Given the description of an element on the screen output the (x, y) to click on. 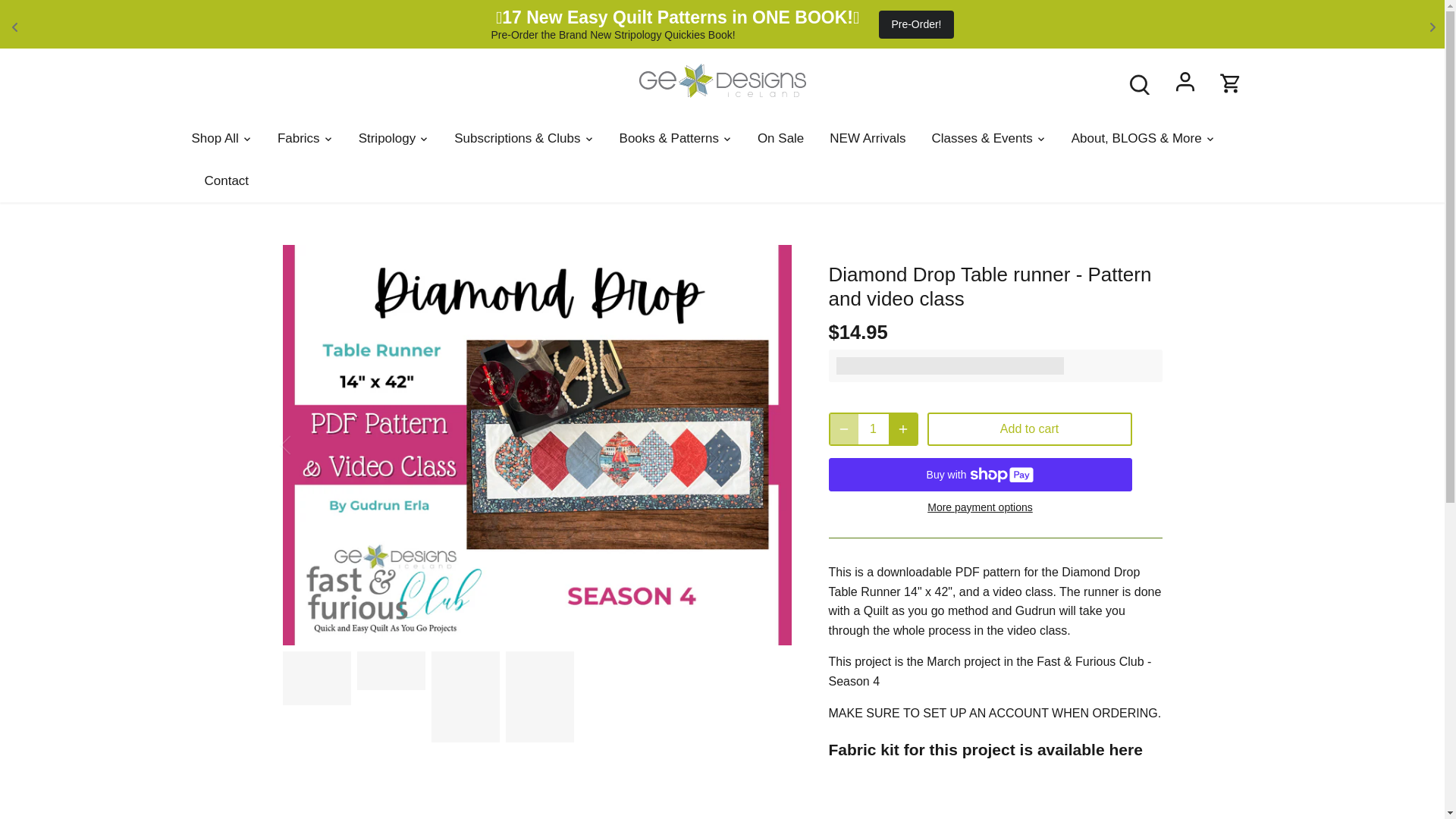
Go to cart (1230, 82)
Account Login (1184, 84)
1 (873, 429)
Shop All (220, 138)
Search (1138, 83)
Account Login (1184, 83)
Search (1139, 84)
Pre-Order! (916, 24)
